Given the description of an element on the screen output the (x, y) to click on. 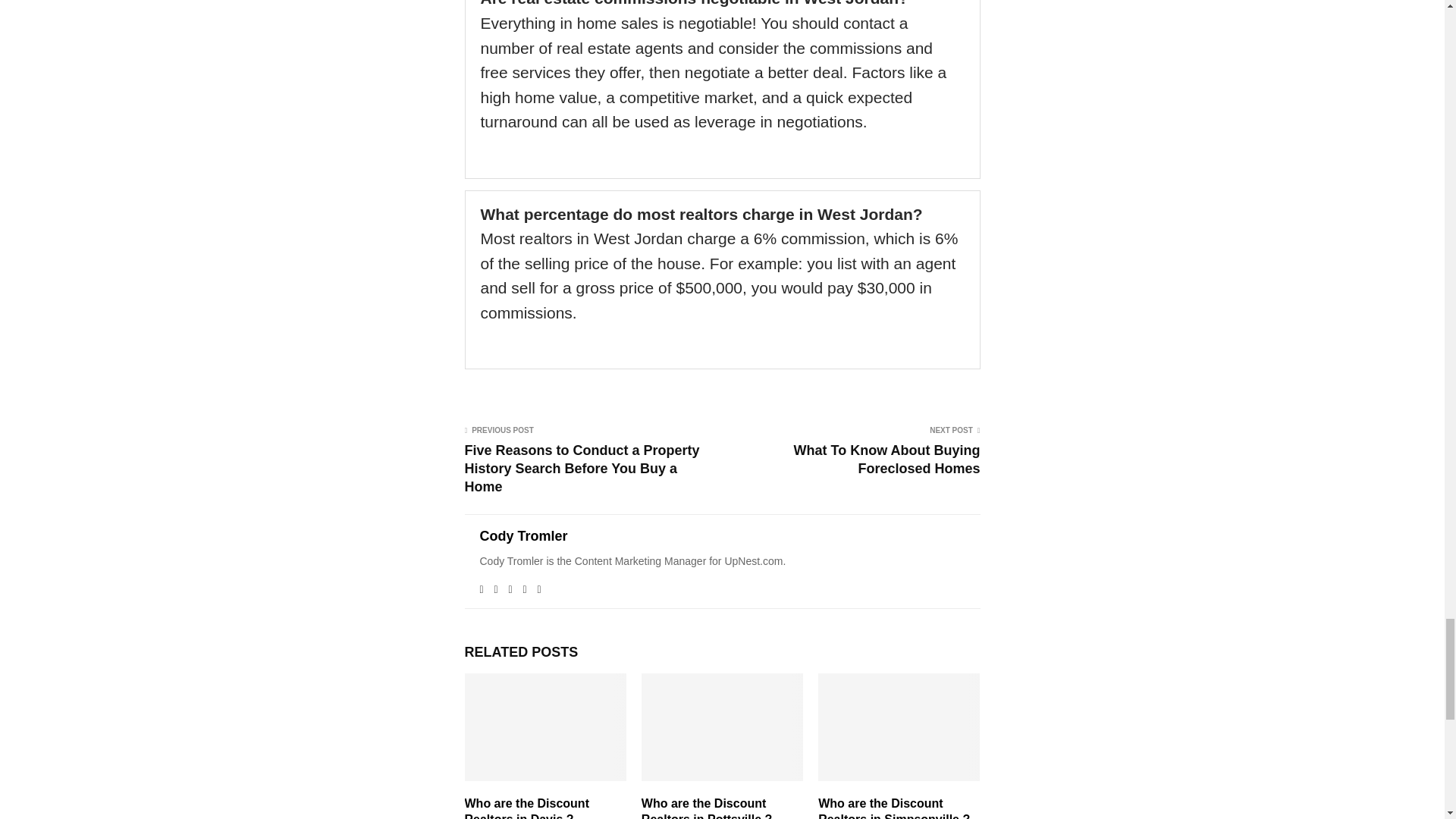
Posts by Cody Tromler (523, 536)
What To Know About Buying Foreclosed Homes (886, 459)
